Given the description of an element on the screen output the (x, y) to click on. 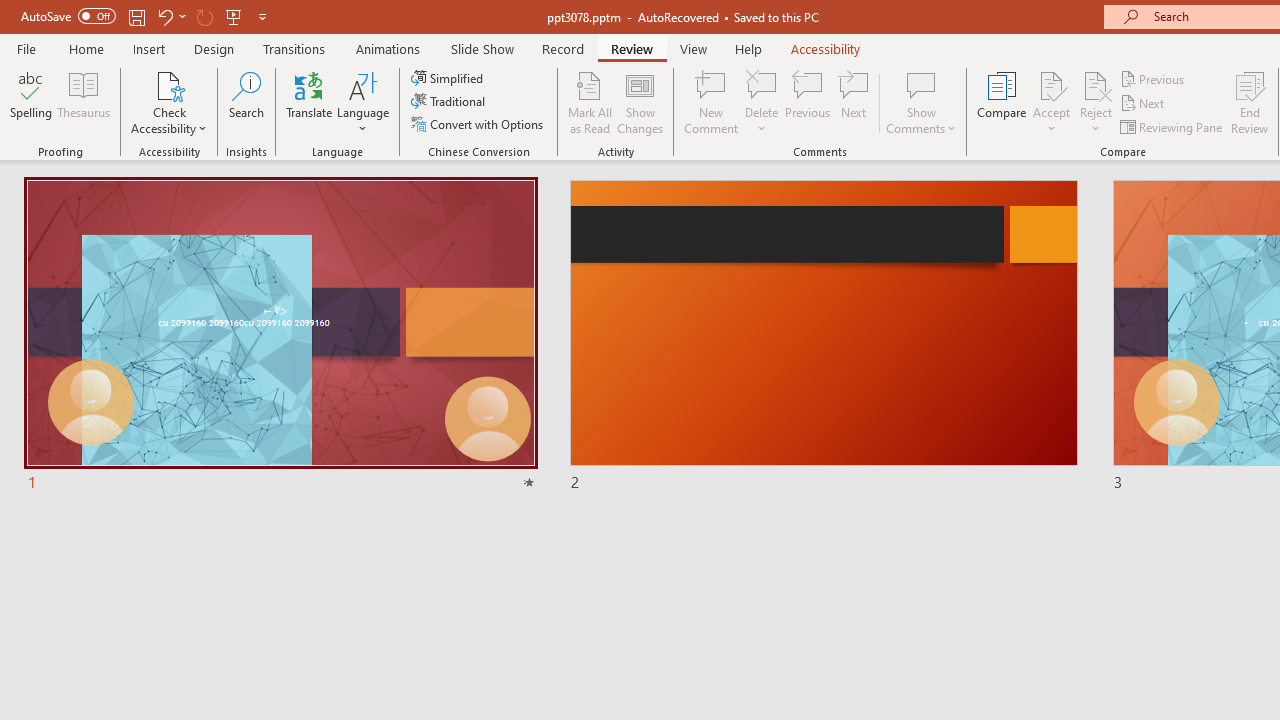
End Review (1249, 102)
Reject Change (1096, 84)
Convert with Options... (479, 124)
Previous (1153, 78)
Mark All as Read (589, 102)
Delete (762, 102)
Reviewing Pane (1172, 126)
Traditional (449, 101)
Language (363, 102)
